Given the description of an element on the screen output the (x, y) to click on. 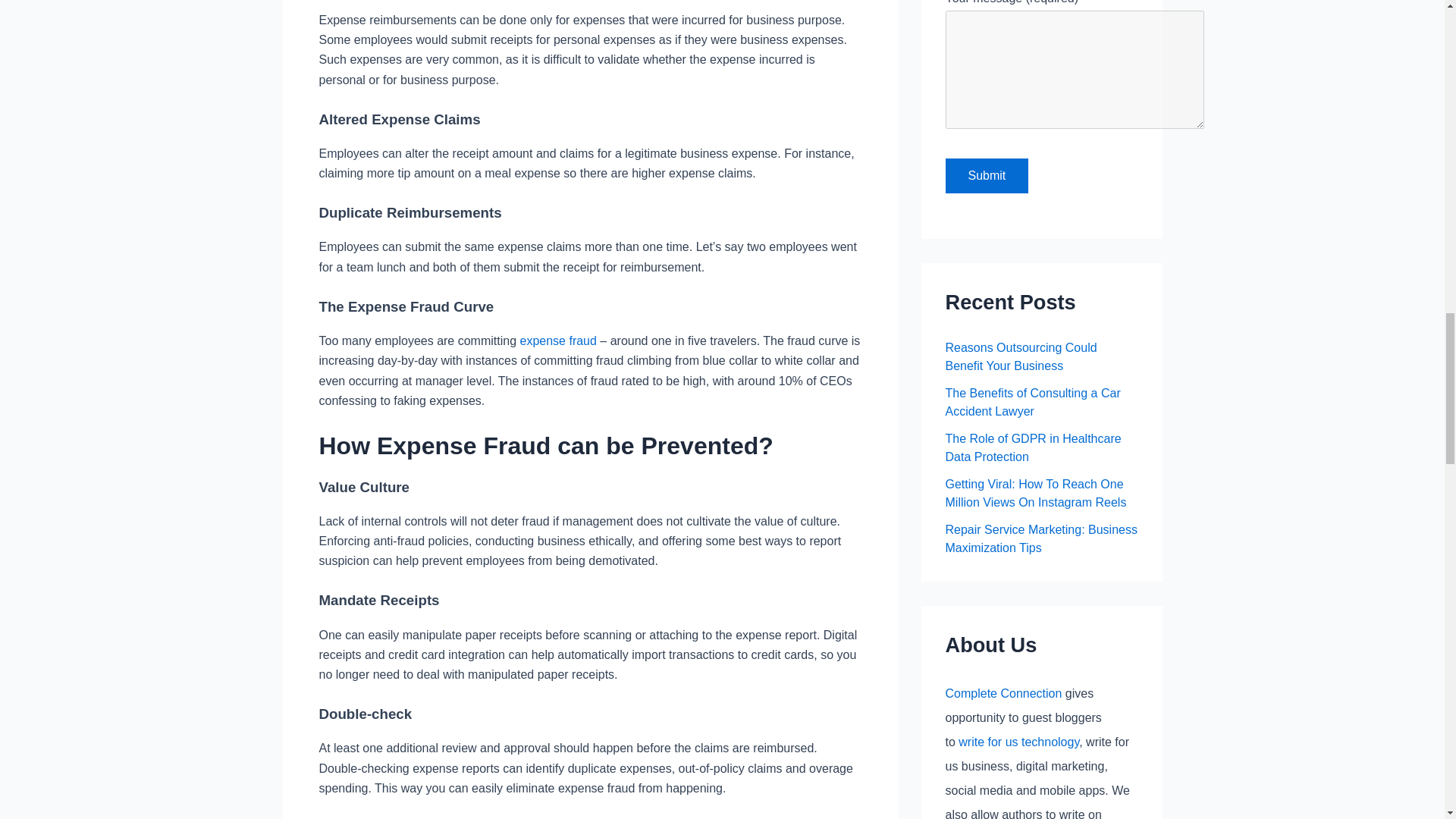
Submit (985, 175)
expense fraud (557, 340)
